Given the description of an element on the screen output the (x, y) to click on. 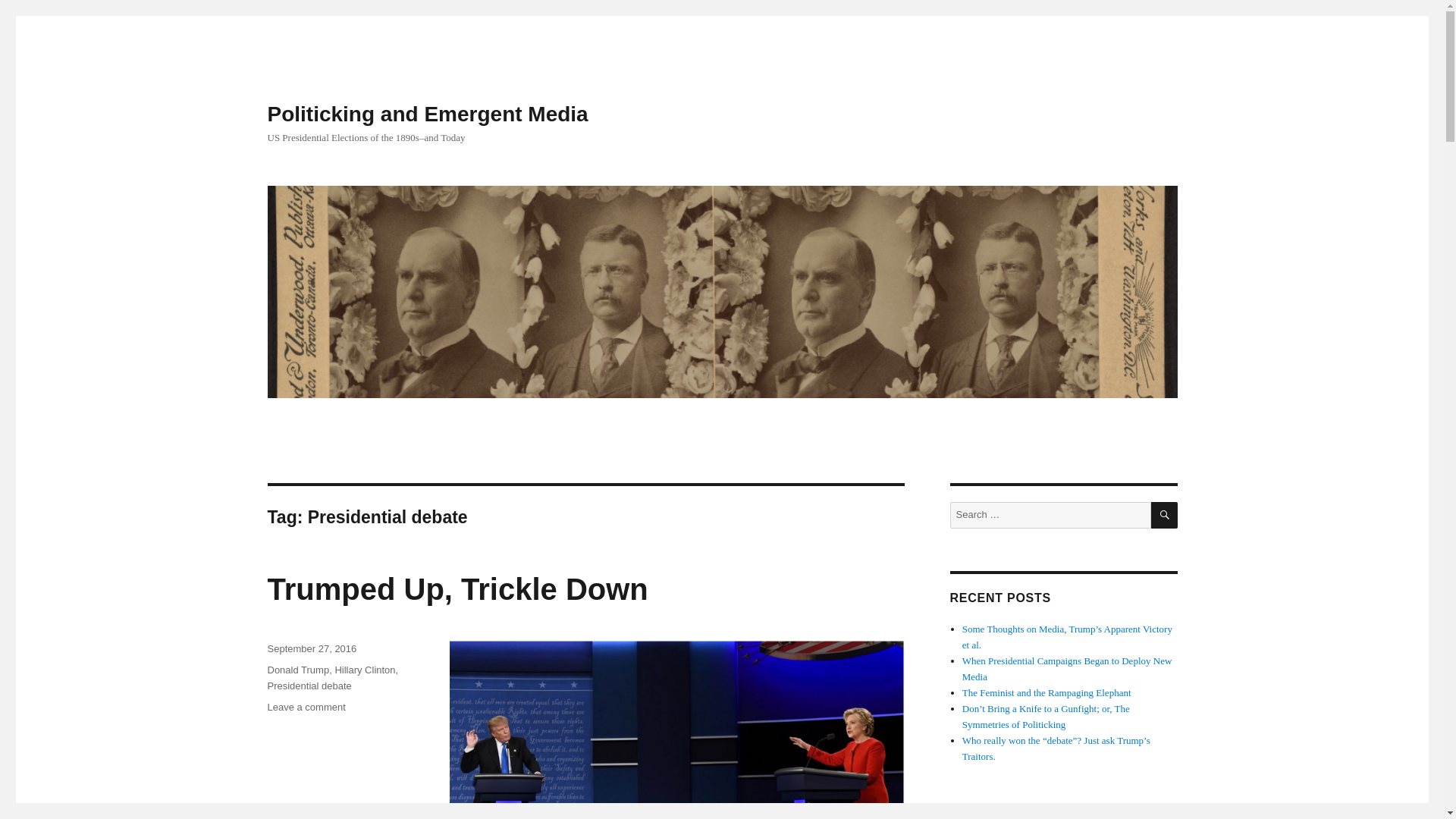
When Presidential Campaigns Began to Deploy New Media (1067, 668)
Presidential debate (305, 706)
September 27, 2016 (308, 685)
Donald Trump (311, 648)
Politicking and Emergent Media (297, 669)
Hillary Clinton (427, 114)
Trumped Up, Trickle Down (364, 669)
SEARCH (456, 589)
The Feminist and the Rampaging Elephant (1164, 515)
